Given the description of an element on the screen output the (x, y) to click on. 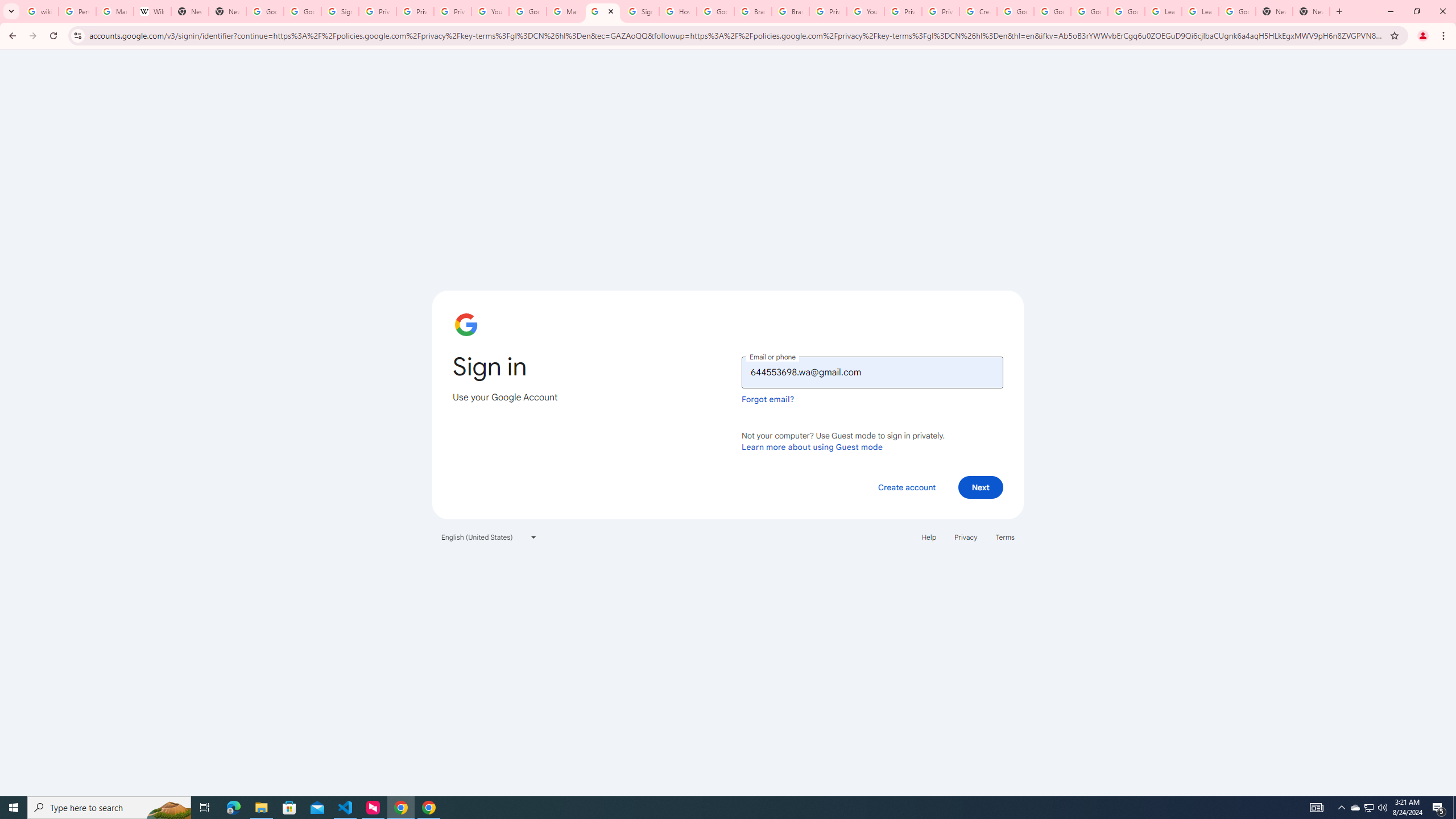
Manage your Location History - Google Search Help (114, 11)
Google Account Help (1015, 11)
Google Account Help (1126, 11)
Google Account Help (527, 11)
New Tab (1273, 11)
English (United States) (489, 536)
New Tab (1311, 11)
